Given the description of an element on the screen output the (x, y) to click on. 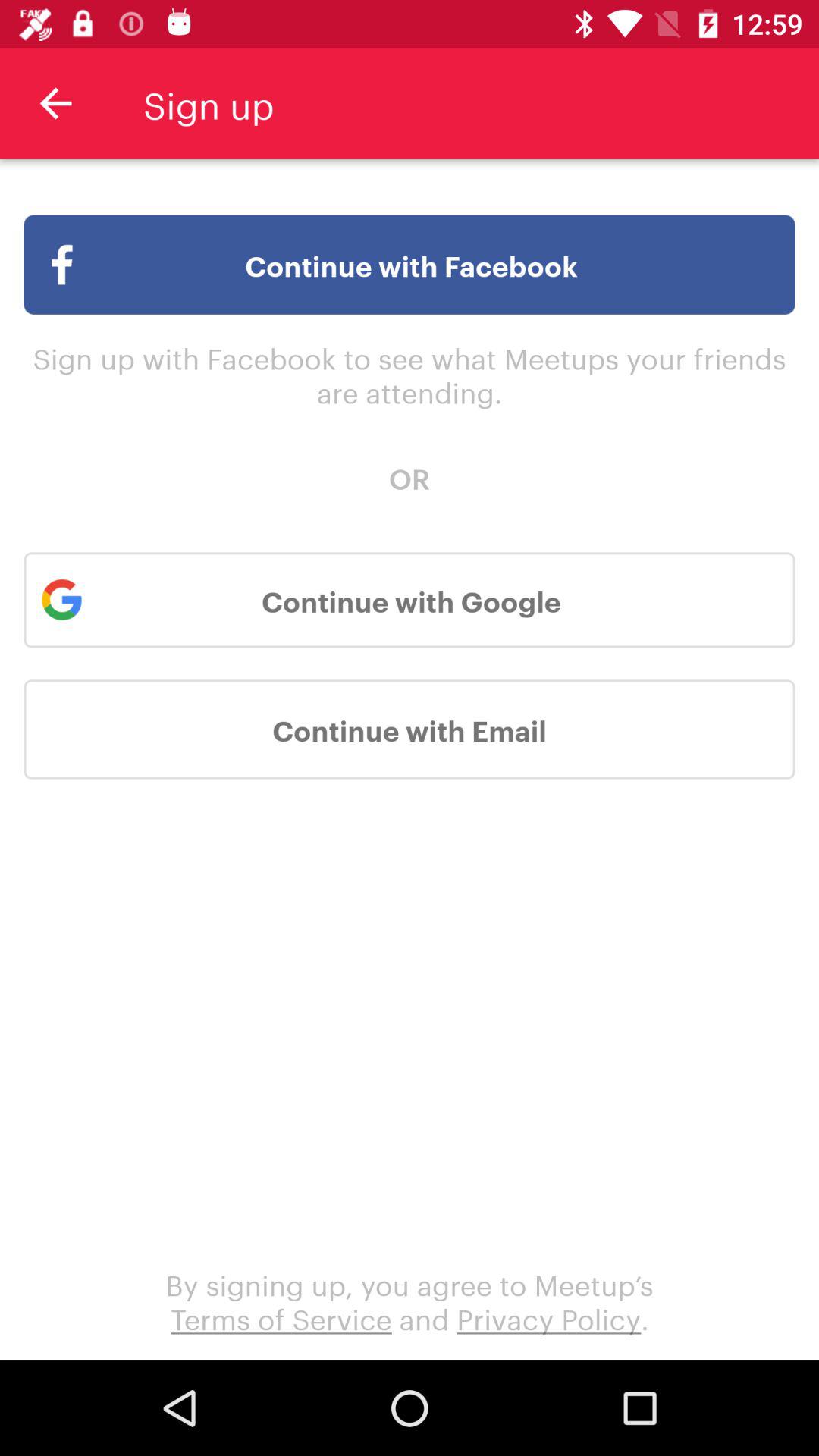
choose item next to sign up item (55, 103)
